Given the description of an element on the screen output the (x, y) to click on. 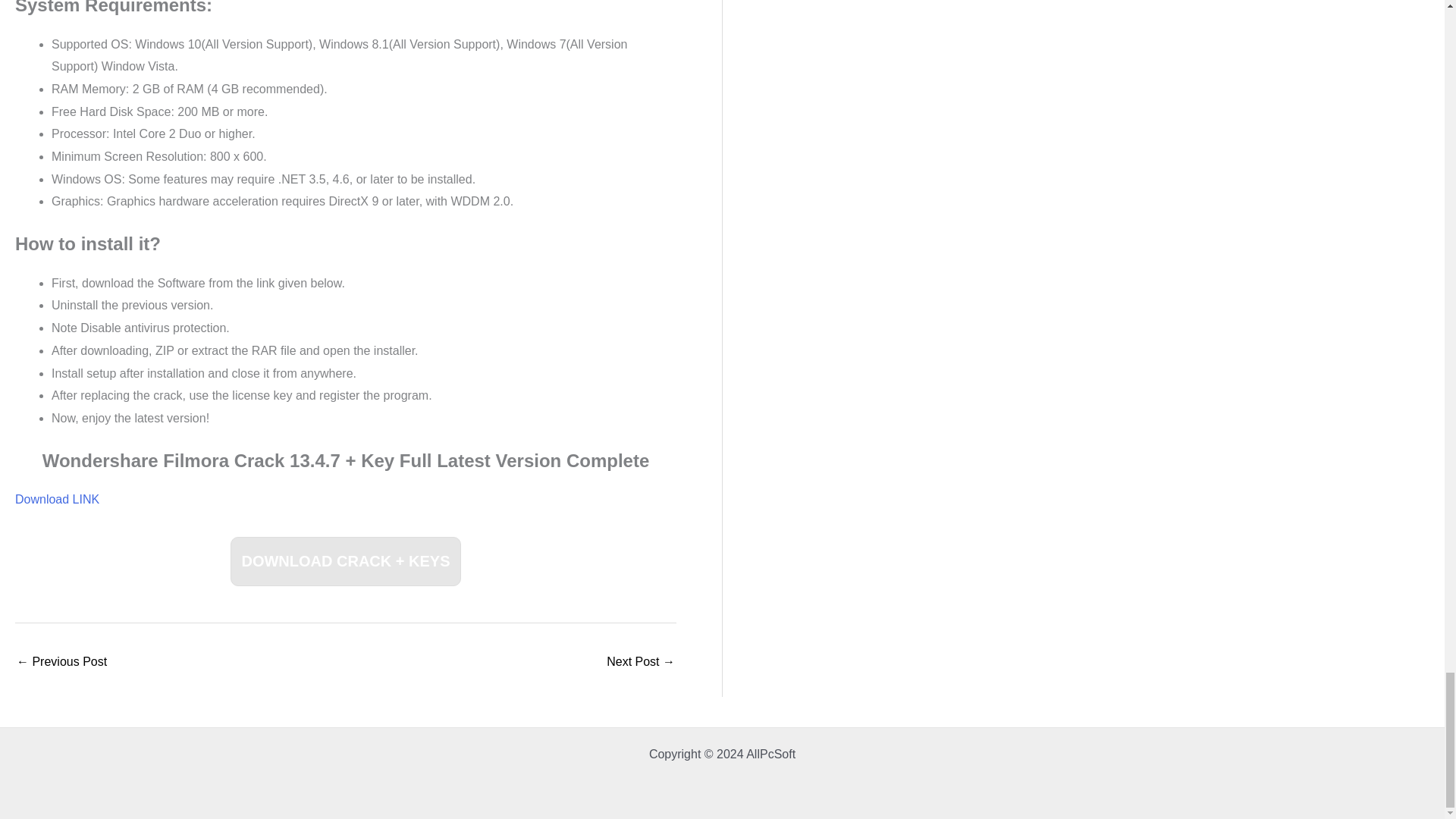
Download LINK (56, 499)
Topaz Video Enhance AI 5.1.3 Activated Key Free Download (61, 663)
